Given the description of an element on the screen output the (x, y) to click on. 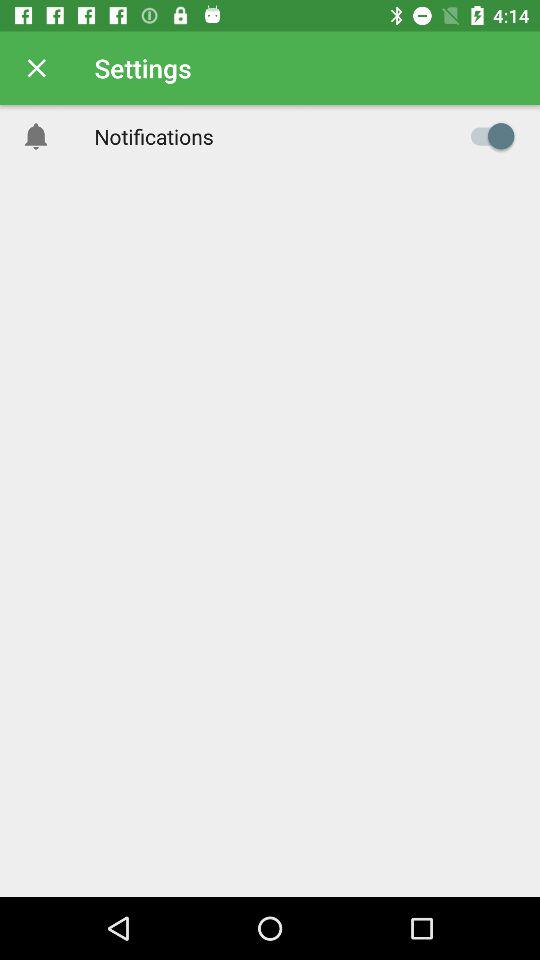
toggle notifications option (487, 136)
